Given the description of an element on the screen output the (x, y) to click on. 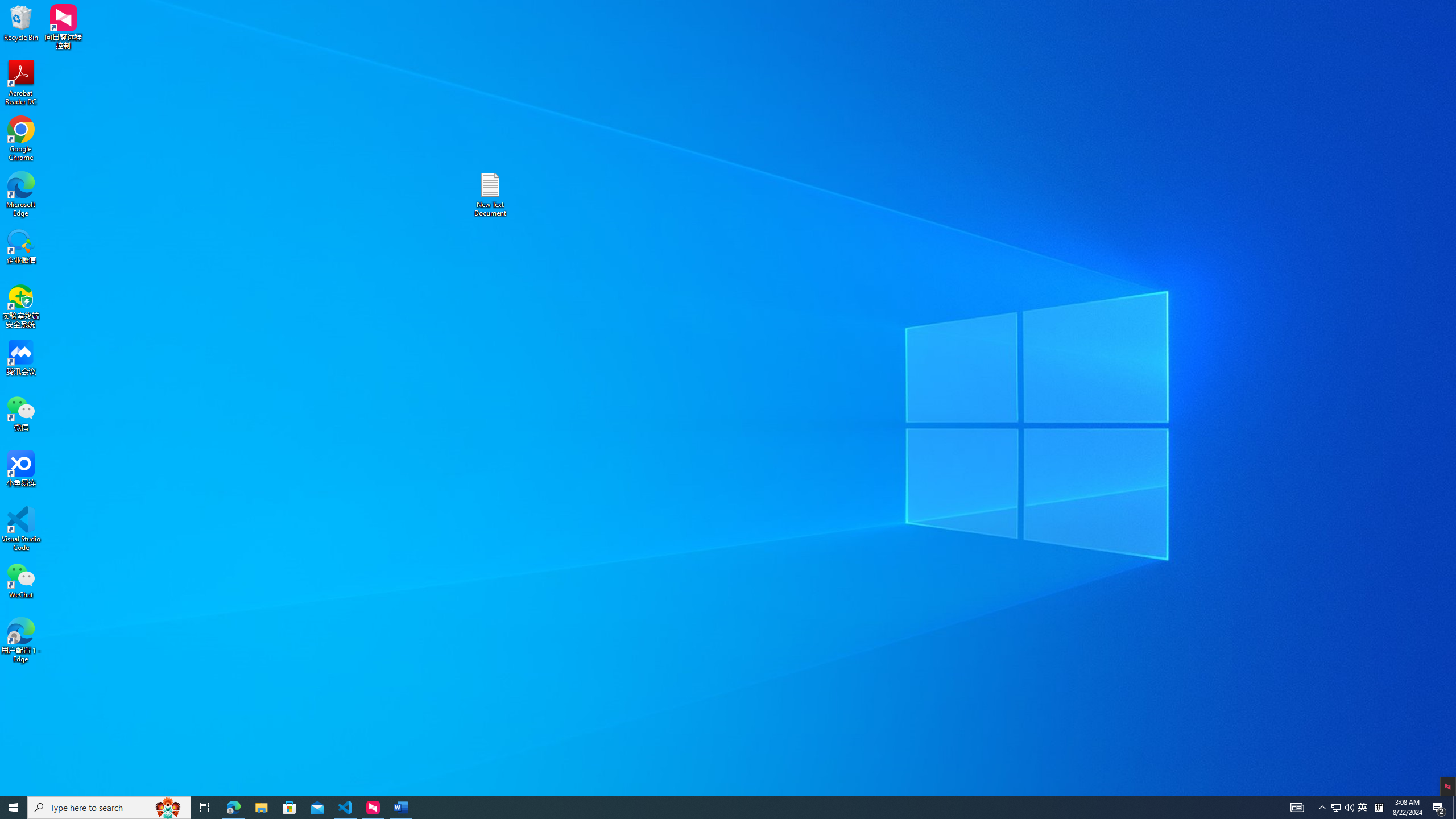
Subtitle (686, 56)
Heading 2 (605, 56)
Microsoft Store (289, 807)
